Given the description of an element on the screen output the (x, y) to click on. 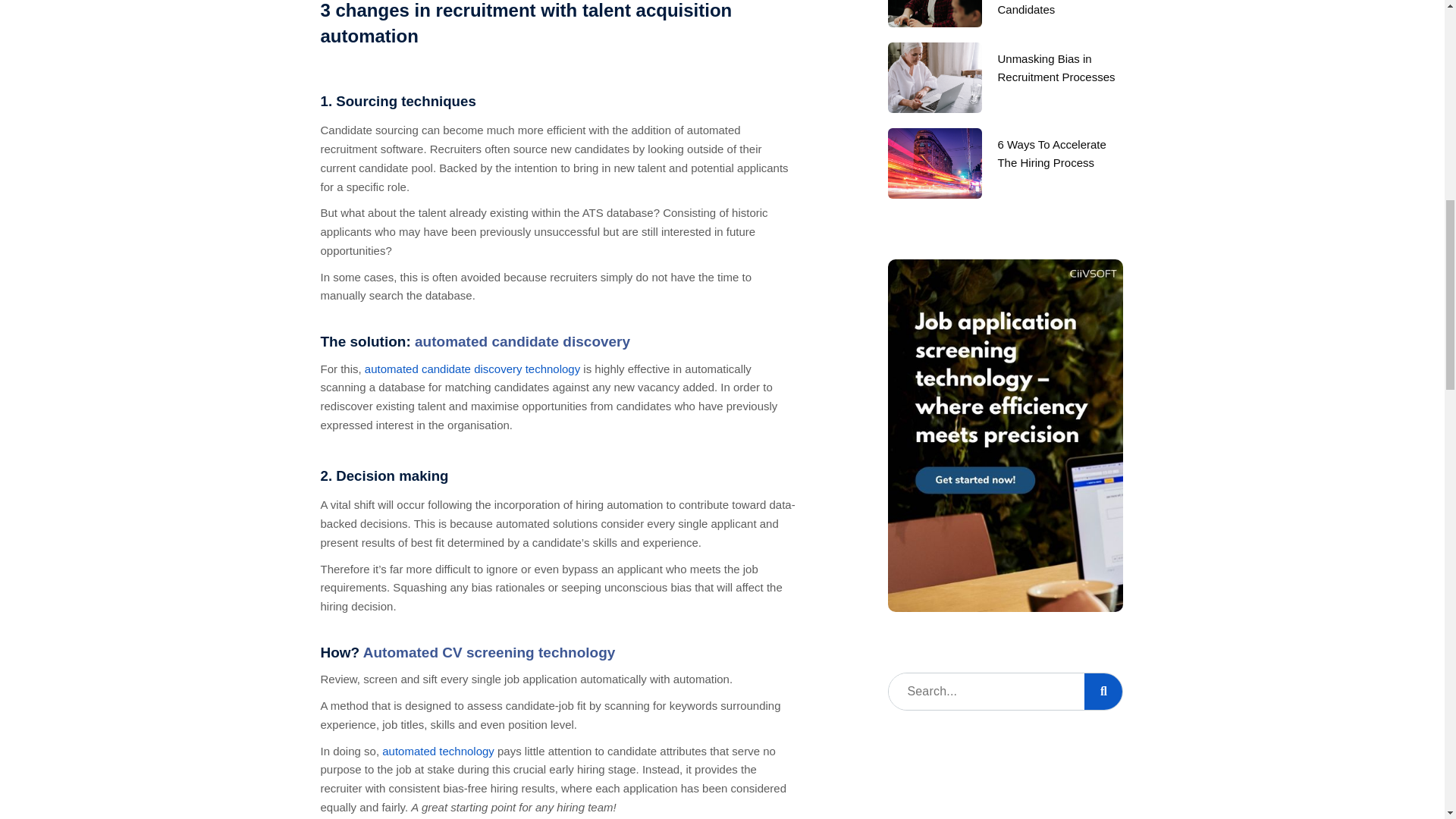
automated candidate discovery technology (470, 368)
Unmasking Bias in Recruitment Processes (1056, 67)
6 Ways To Accelerate The Hiring Process (1051, 153)
How To Craft A Job Advert That Attracts Top Candidates (1057, 7)
Search (986, 691)
automated technology (438, 750)
